Given the description of an element on the screen output the (x, y) to click on. 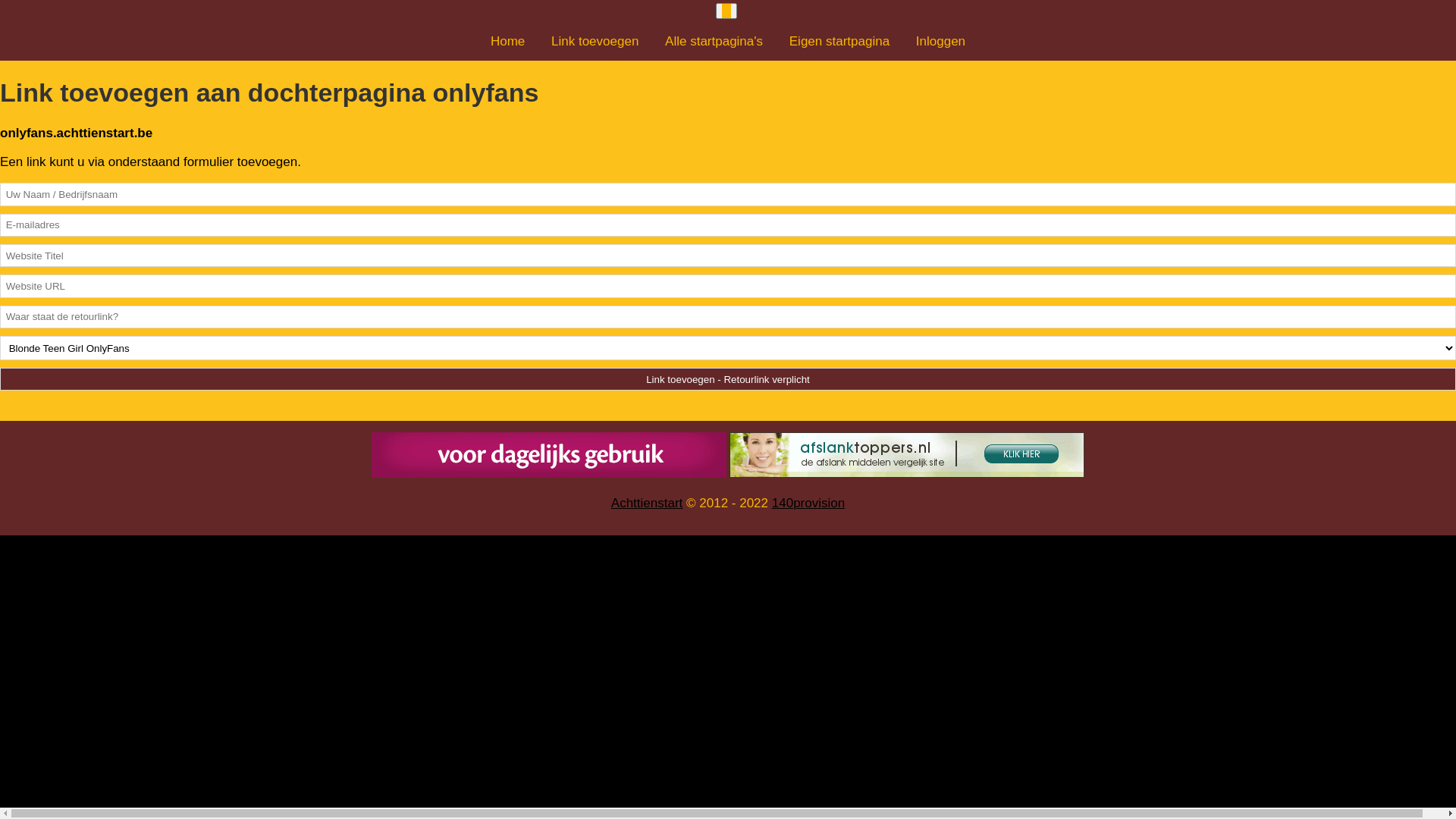
Achttienstart Element type: text (647, 502)
De beste afslankmiddelen op een site Element type: hover (906, 454)
Eigen startpagina Element type: text (839, 40)
Inloggen Element type: text (940, 40)
Home Element type: text (507, 40)
Alle startpagina's Element type: text (713, 40)
Link toevoegen Element type: text (594, 40)
140provision Element type: text (807, 502)
Stevige grote borsten in 20 dagen Element type: hover (548, 454)
